Given the description of an element on the screen output the (x, y) to click on. 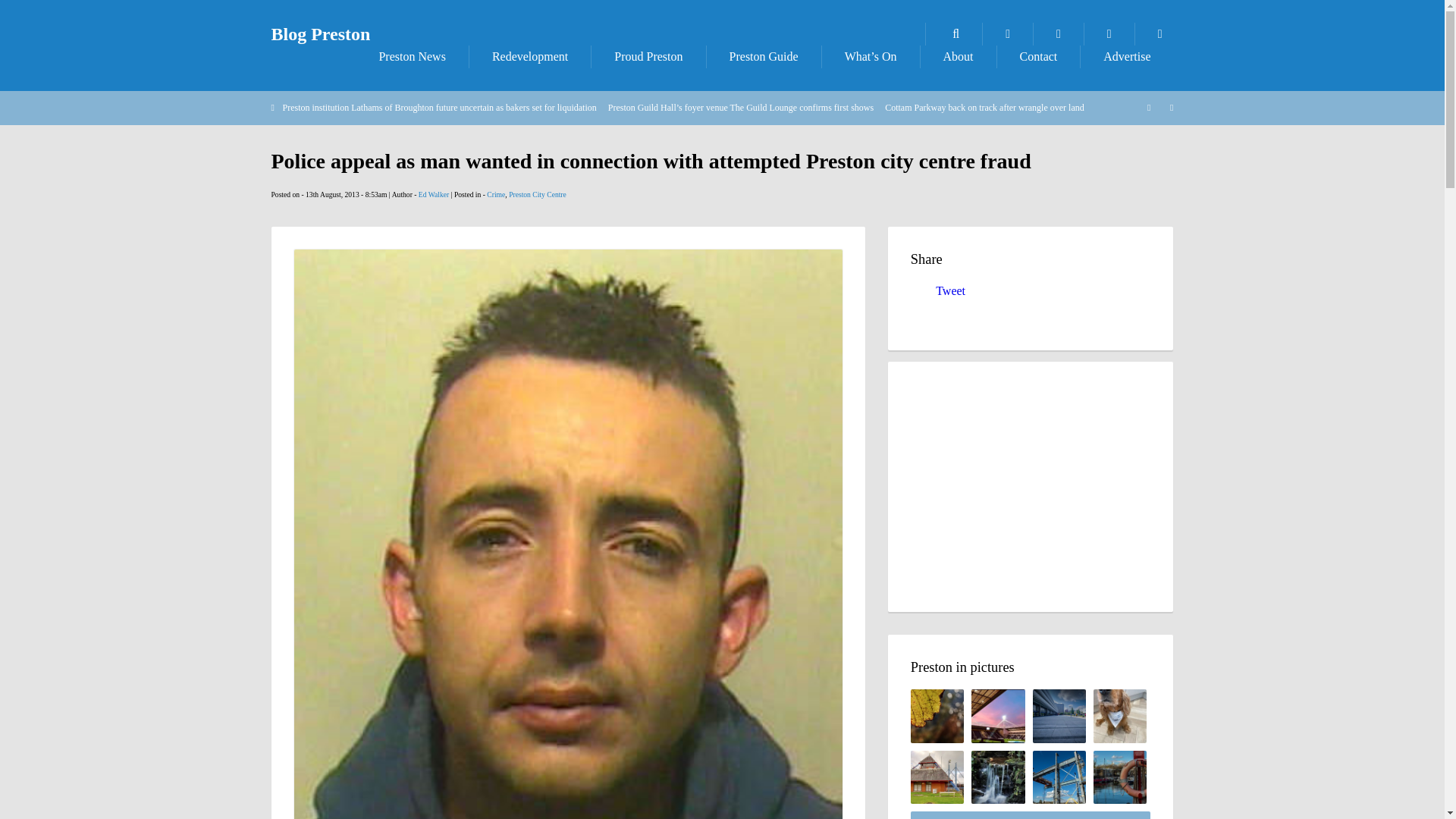
Proud Preston (647, 56)
About (957, 56)
View more (1031, 815)
Photos from around Preston (1007, 33)
Advertise (1126, 56)
Latest Preston news (411, 56)
Redevelopment (529, 56)
Cottam Parkway back on track after wrangle over land (984, 107)
Crime (495, 194)
